Given the description of an element on the screen output the (x, y) to click on. 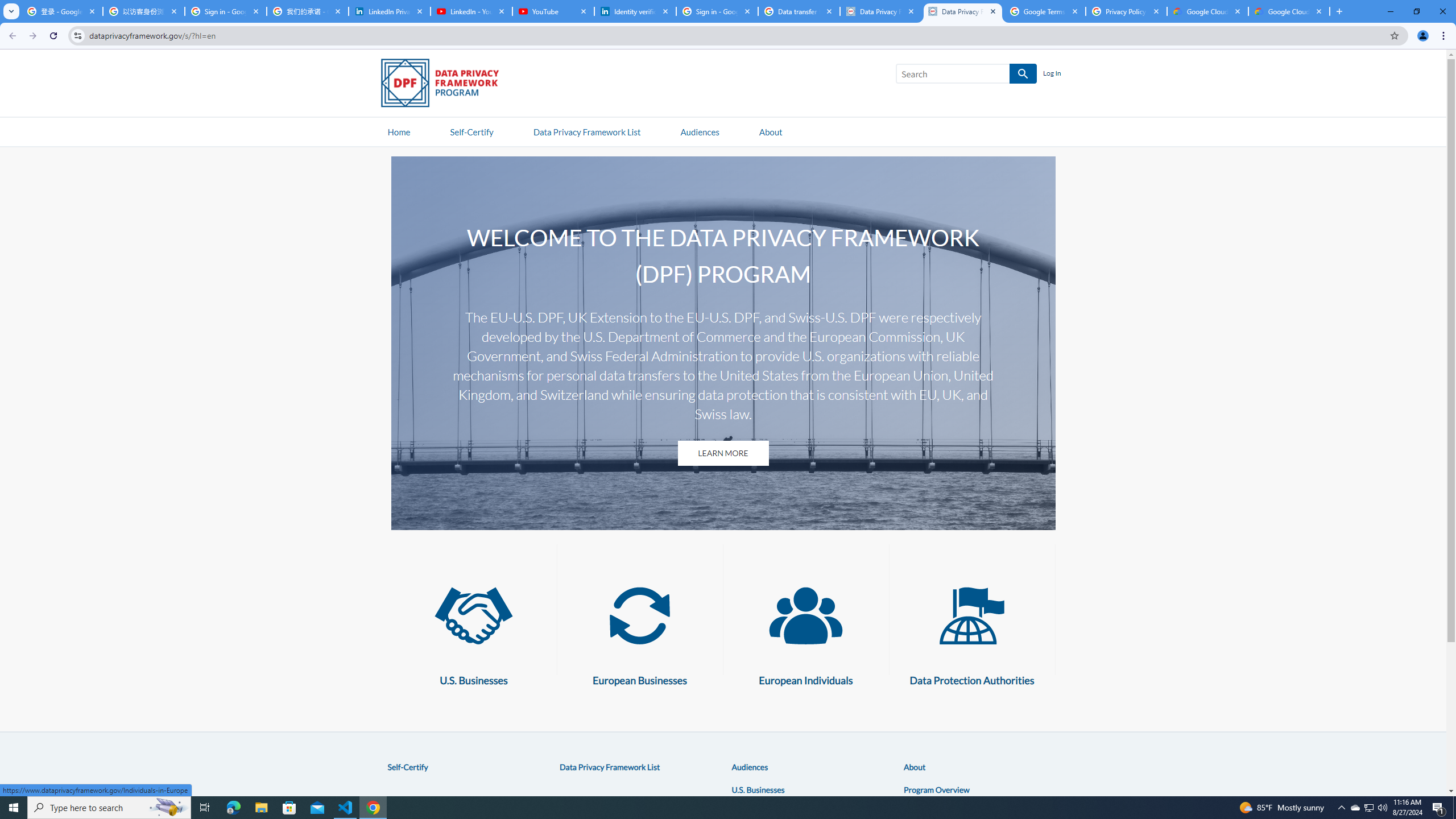
Google Cloud Privacy Notice (1207, 11)
AutomationID: navitem2 (769, 131)
European Businesses (639, 615)
European Individuals European Individuals (805, 630)
LEARN MORE (722, 453)
U.S. Businesses U.S. Businesses (473, 630)
About (915, 766)
Program Overview (936, 789)
Data Protection Authorities (971, 615)
Log In (1051, 73)
Search SEARCH (965, 75)
